Given the description of an element on the screen output the (x, y) to click on. 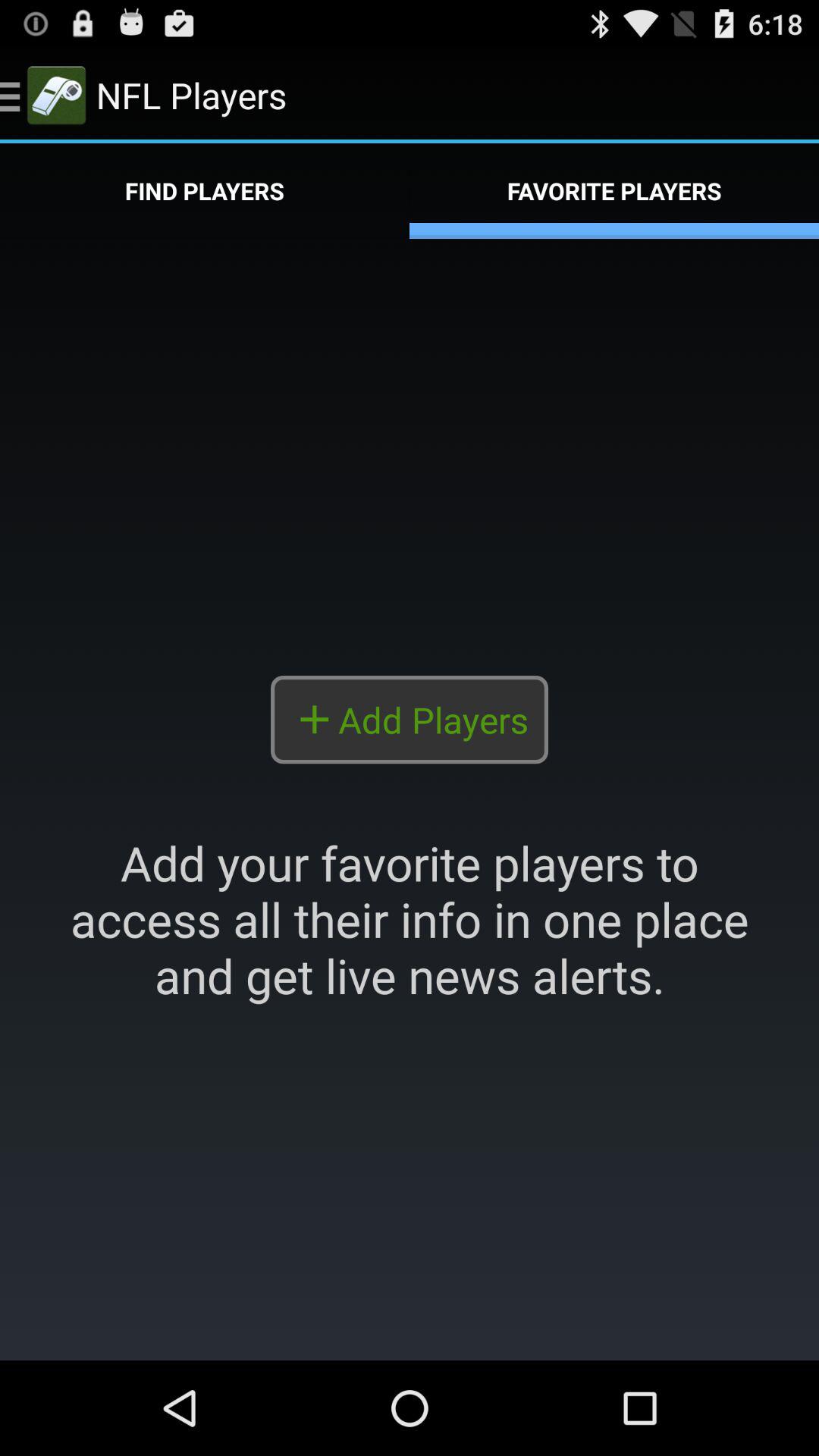
add new players (409, 799)
